Given the description of an element on the screen output the (x, y) to click on. 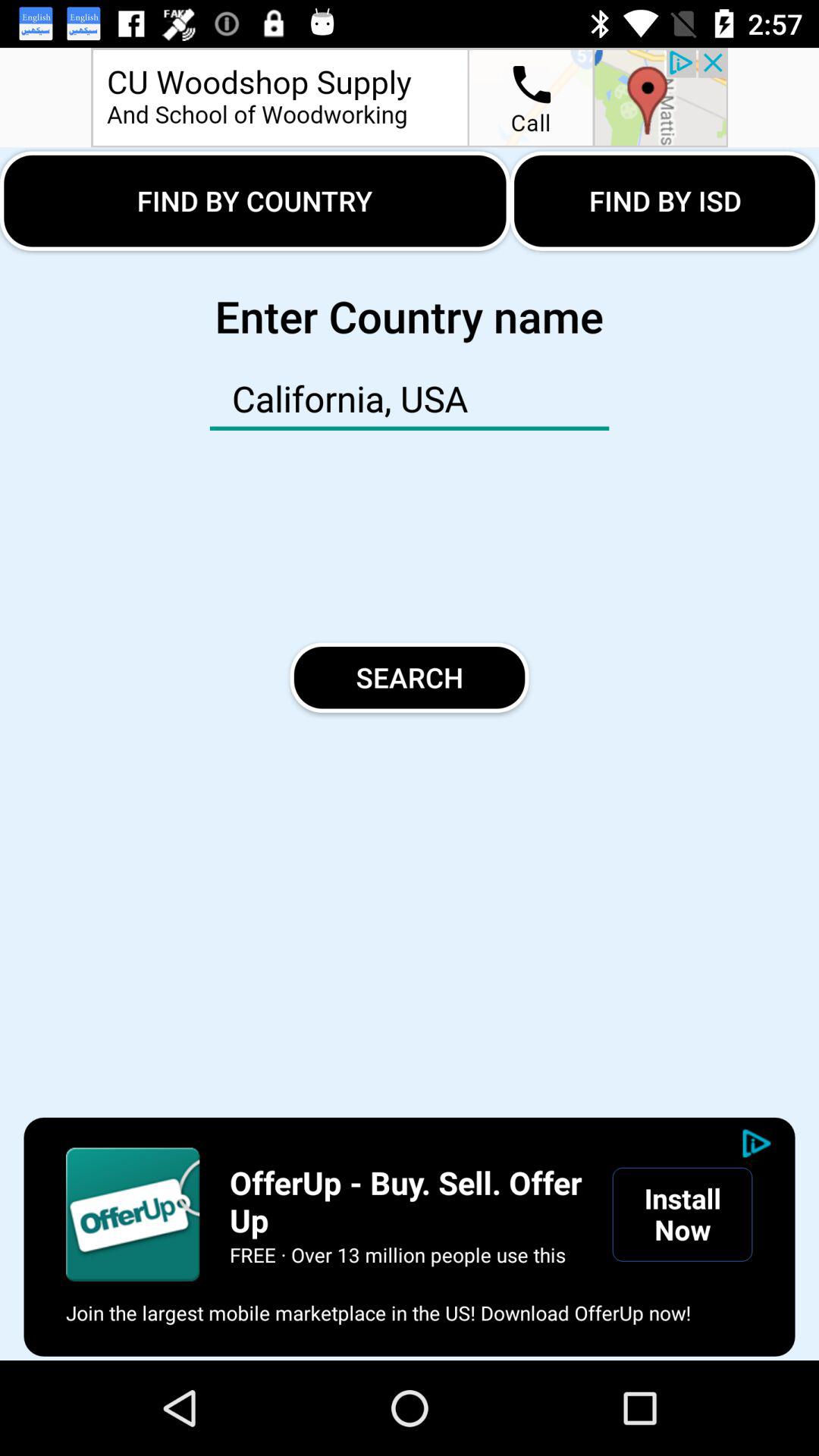
launch advertisement (132, 1214)
